Given the description of an element on the screen output the (x, y) to click on. 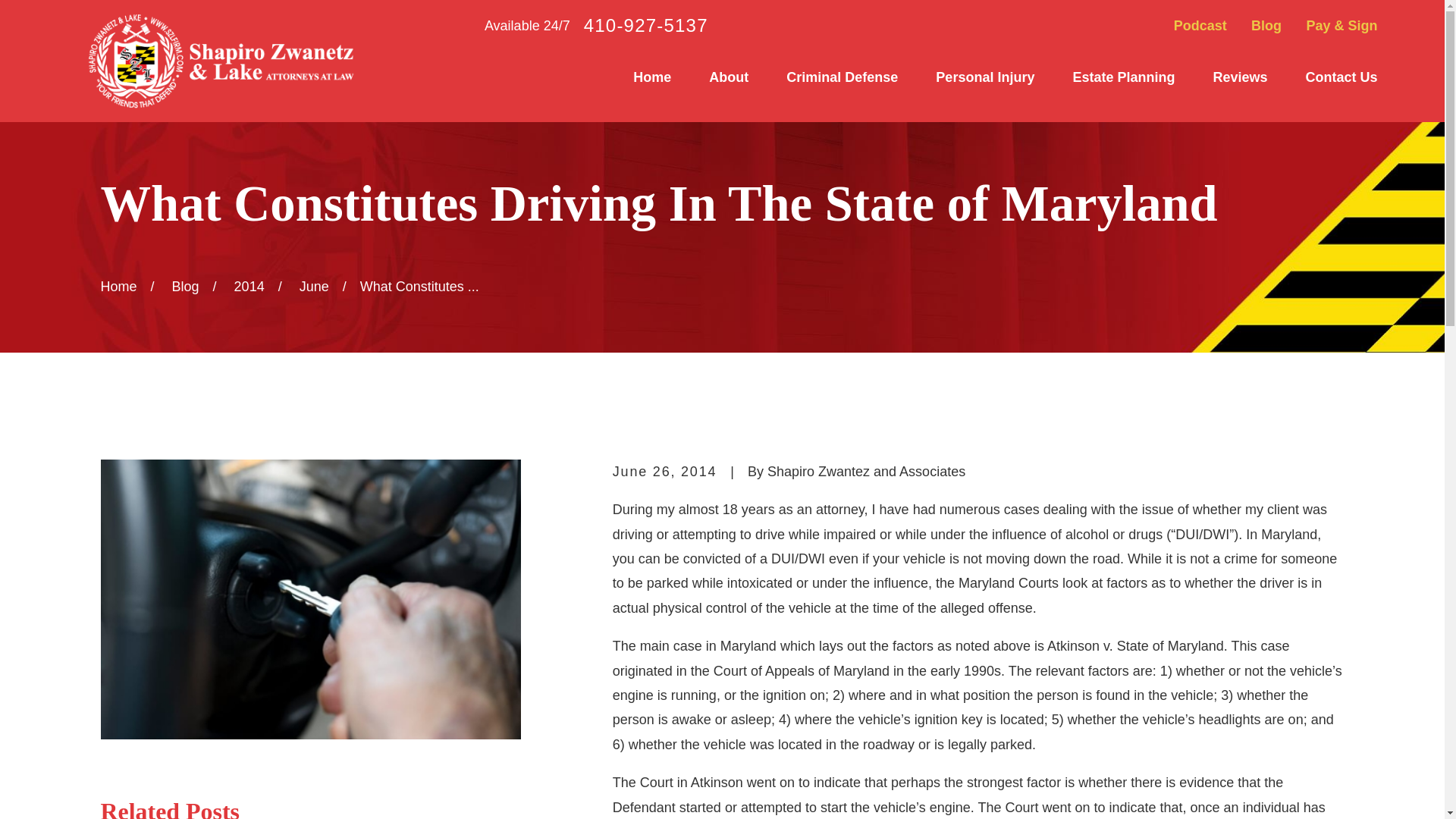
410-927-5137 (645, 25)
Home (652, 77)
Blog (1265, 25)
Reviews (1239, 77)
Go Home (118, 286)
Podcast (1200, 25)
About (728, 77)
Estate Planning (1122, 77)
Criminal Defense (842, 77)
Contact Us (1340, 77)
